Given the description of an element on the screen output the (x, y) to click on. 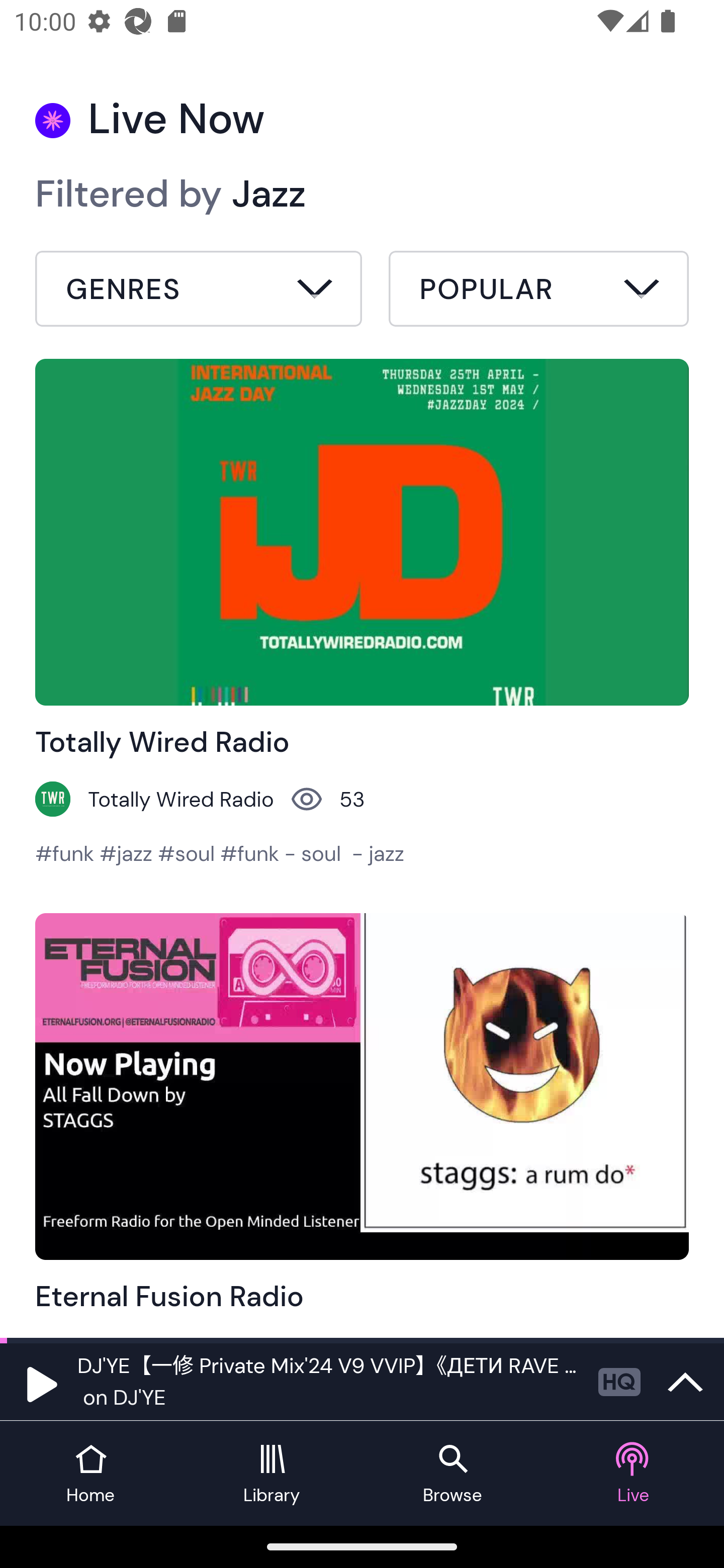
Filter by button Jazz (198, 291)
Sort by button Popular (538, 291)
Home tab Home (90, 1473)
Library tab Library (271, 1473)
Browse tab Browse (452, 1473)
Live tab Live (633, 1473)
